Given the description of an element on the screen output the (x, y) to click on. 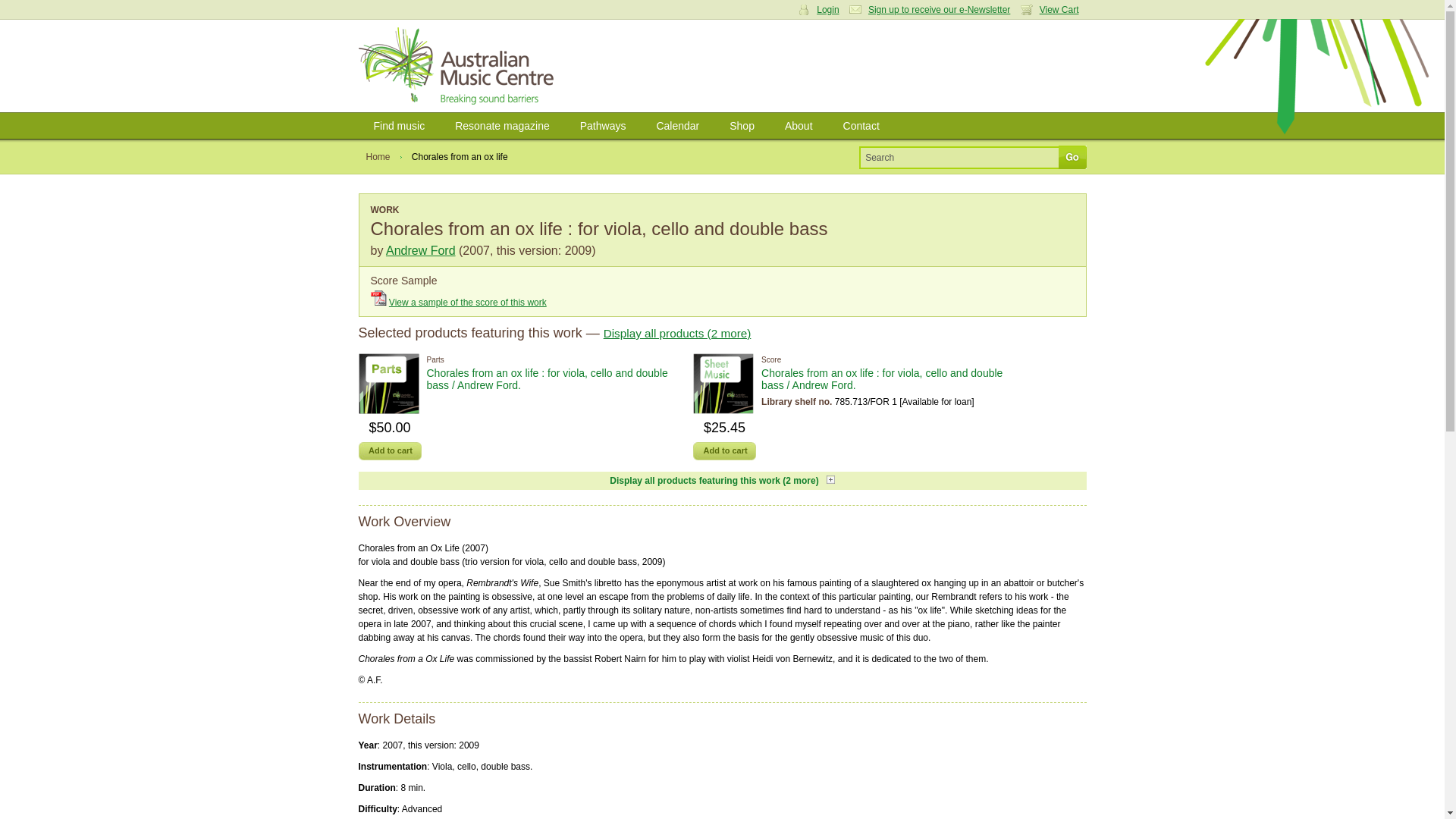
About (799, 125)
Calendar (677, 125)
Login (821, 9)
Calendar (677, 125)
Find music (398, 125)
Resonate magazine (501, 125)
Go (1072, 156)
View Cart (1053, 9)
Pathways (603, 125)
Shop (742, 125)
Search (960, 156)
Find music (398, 125)
Pathways (603, 125)
Login (371, 132)
Resonate magazine (501, 125)
